Given the description of an element on the screen output the (x, y) to click on. 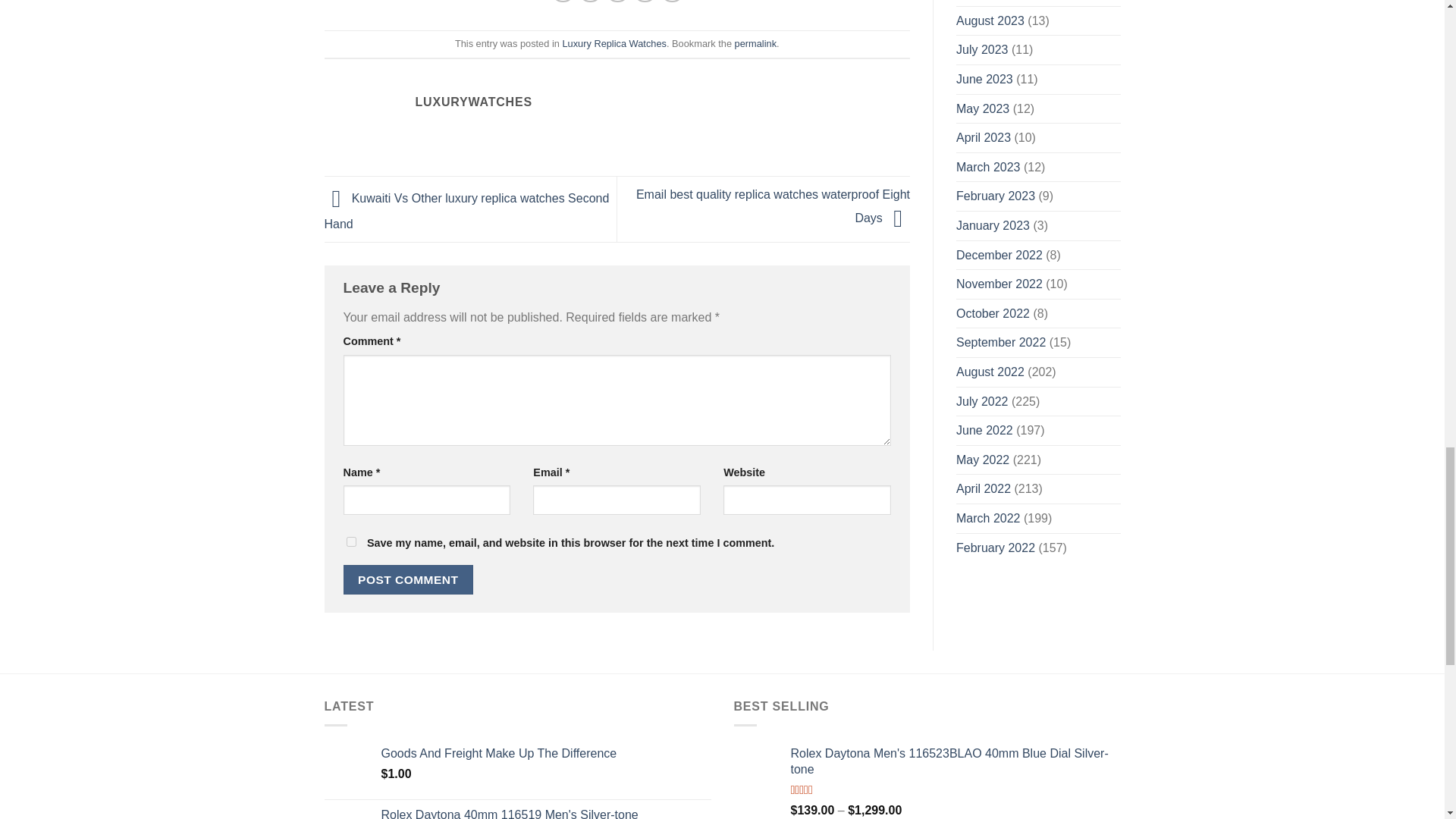
permalink (755, 43)
Email to a Friend (617, 1)
Share on Facebook (562, 1)
Post Comment (407, 579)
Luxury Replica Watches (614, 43)
Kuwaiti Vs Other luxury replica watches Second Hand (467, 211)
Share on LinkedIn (671, 1)
Share on Twitter (590, 1)
yes (350, 542)
Pin on Pinterest (644, 1)
